Given the description of an element on the screen output the (x, y) to click on. 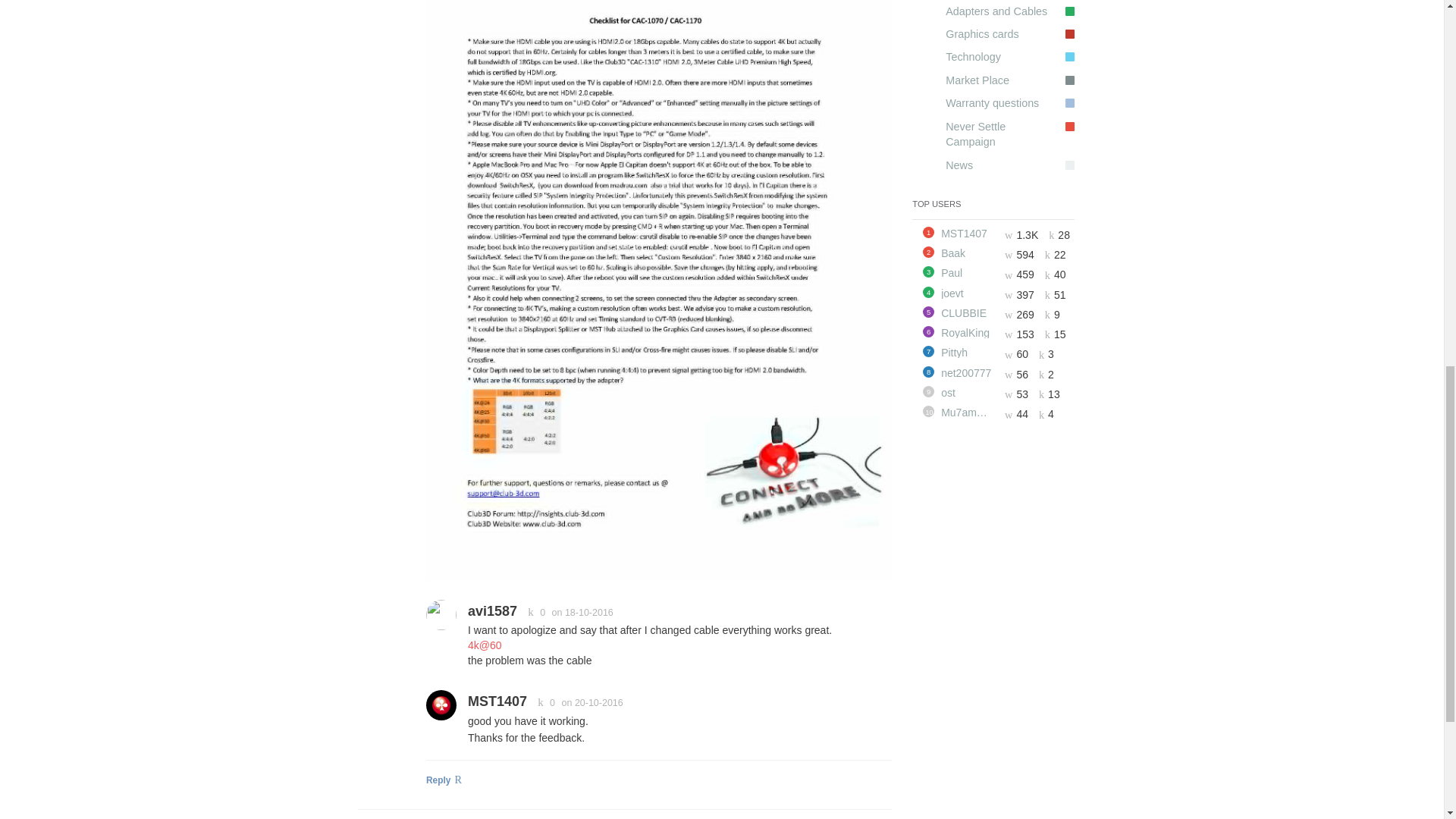
Reply (658, 782)
avi1587 (491, 611)
RoyalKing (967, 332)
Paul (967, 272)
Mu7ammad (967, 412)
ost (967, 392)
CLUBBIE (967, 312)
MST1407 (497, 701)
Pittyh (967, 352)
0 (533, 612)
